Given the description of an element on the screen output the (x, y) to click on. 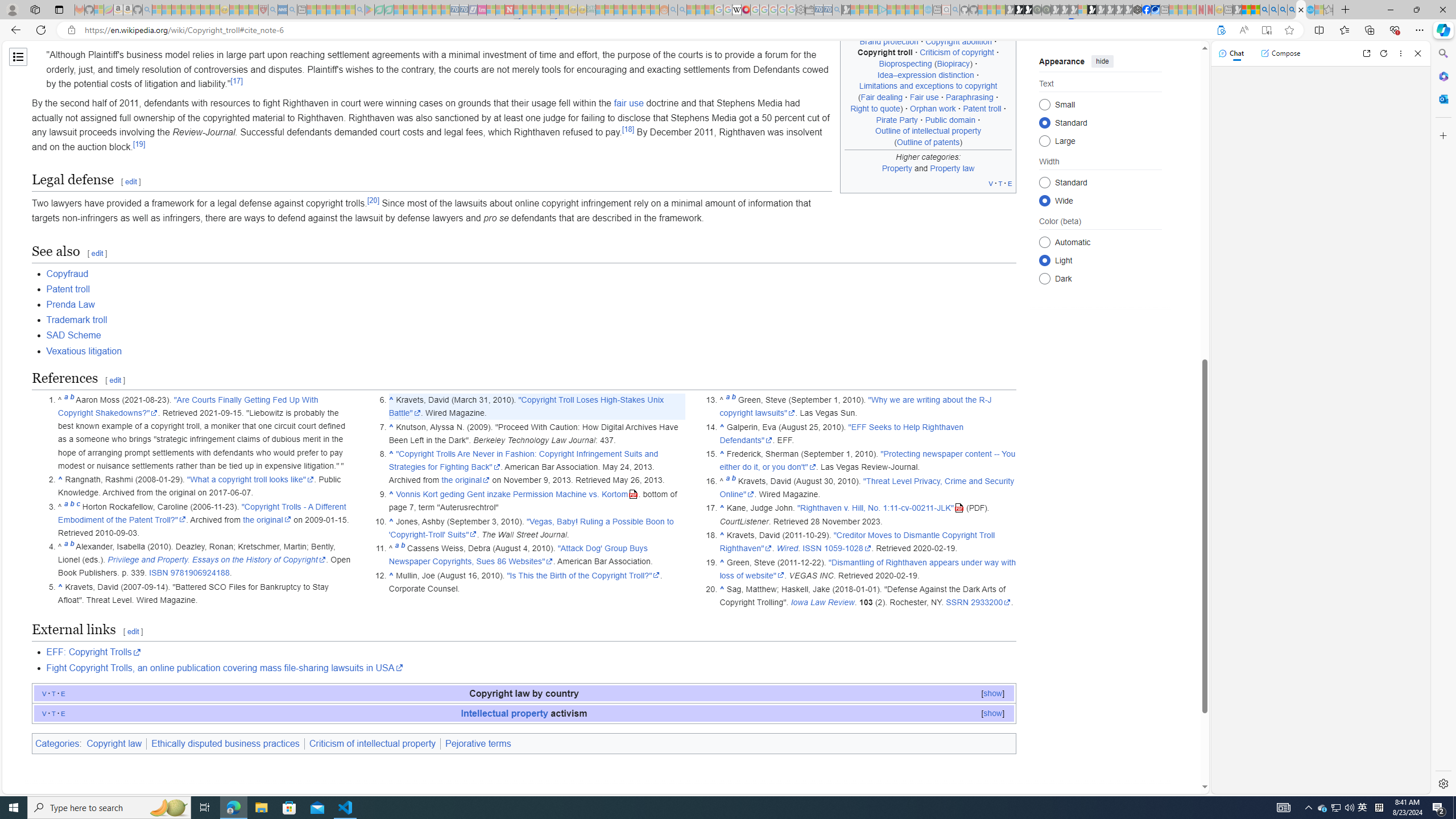
[18] (627, 128)
"Threat Level Privacy, Crime and Security Online" (866, 486)
Trademark troll (531, 319)
Cheap Hotels - Save70.com - Sleeping (463, 9)
Bioprospecting (905, 63)
14 Common Myths Debunked By Scientific Facts - Sleeping (527, 9)
Fair use (924, 97)
